Given the description of an element on the screen output the (x, y) to click on. 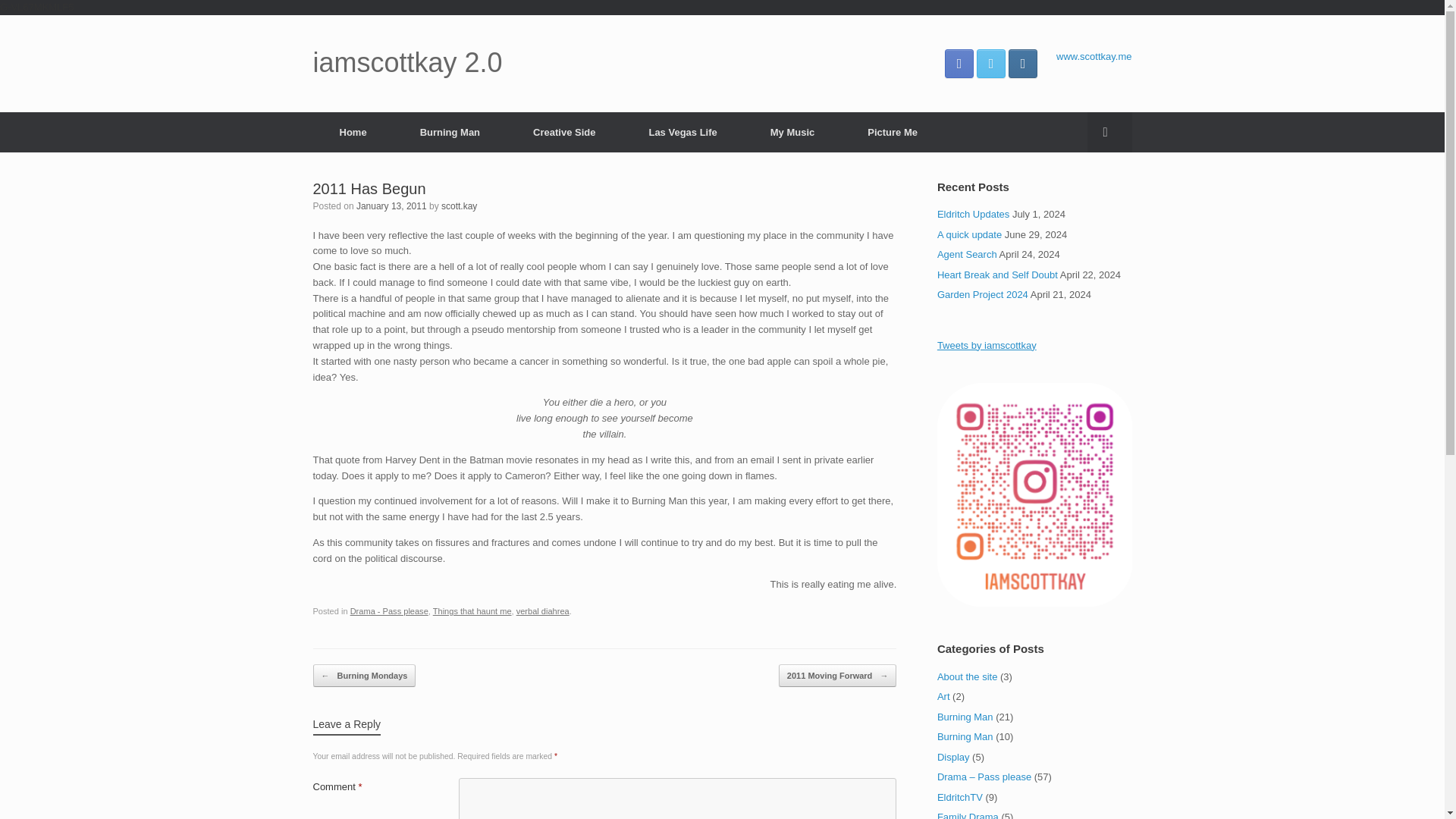
iamscottkay 2.0 Instagram (1022, 62)
12:00 pm (391, 204)
Creative Side (563, 132)
Burning Man (449, 132)
www.scottkay.me (1094, 55)
Home (353, 132)
A quick update (969, 234)
iamscottkay 2.0 (407, 62)
Things that haunt me (472, 610)
Eldritch Updates (973, 214)
iamscottkay 2.0 (407, 62)
Las Vegas Life (681, 132)
January 13, 2011 (391, 204)
Agent Search (967, 254)
Drama - Pass please (389, 610)
